Given the description of an element on the screen output the (x, y) to click on. 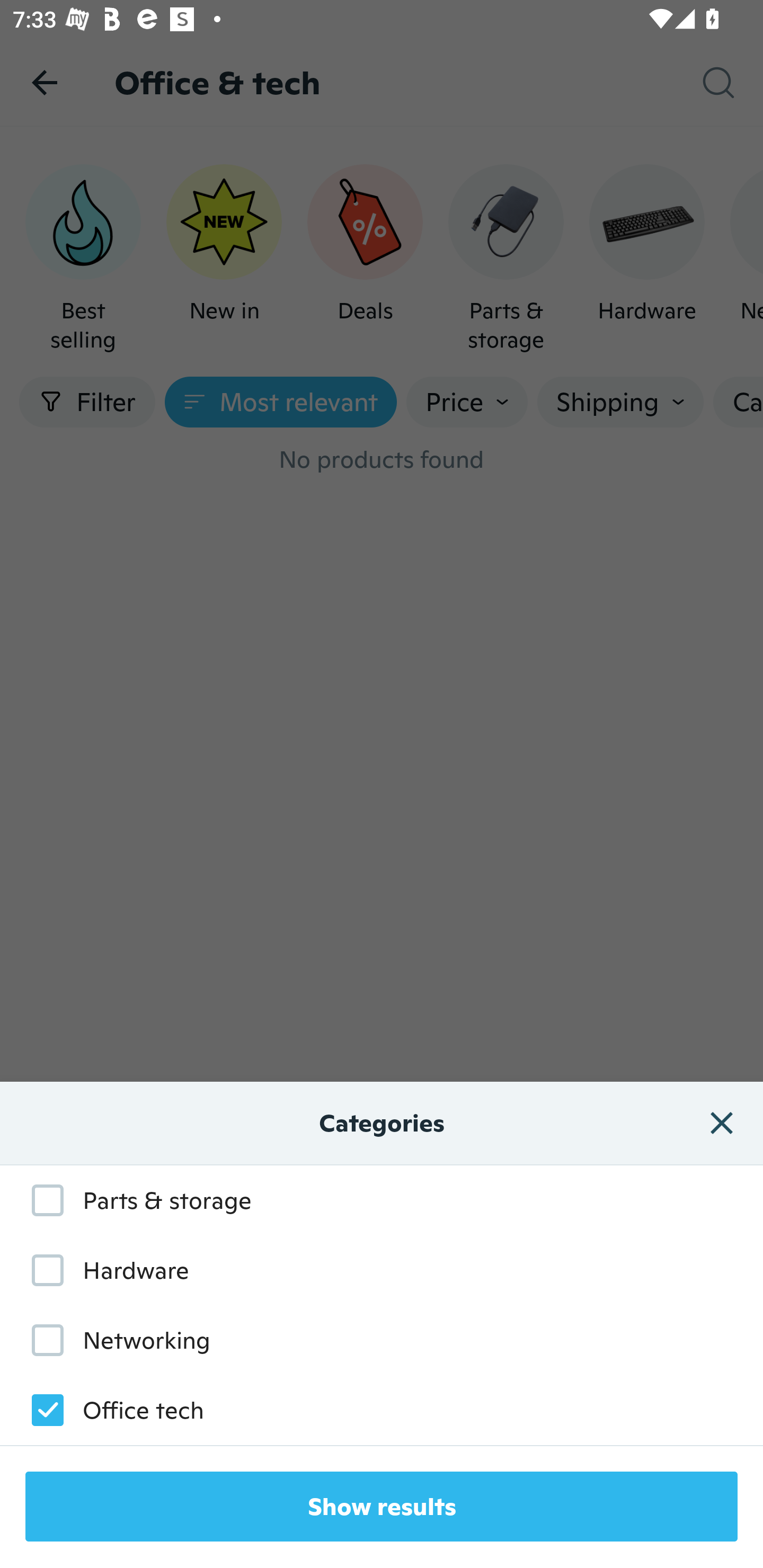
Parts & storage (132, 1200)
Hardware (101, 1269)
Networking (111, 1339)
Office tech (108, 1410)
Show results (381, 1506)
